Given the description of an element on the screen output the (x, y) to click on. 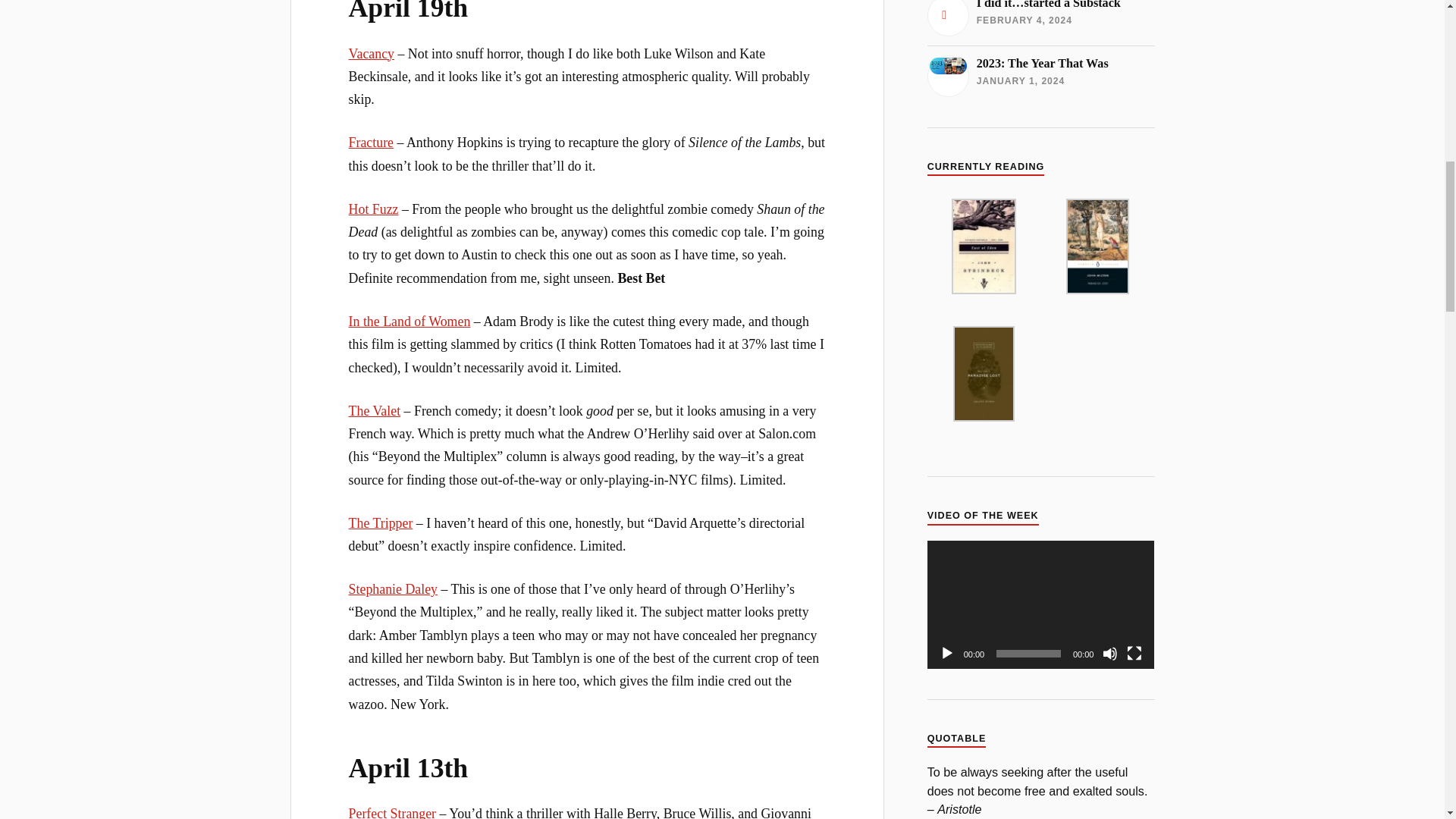
Vacancy (371, 53)
Fracture (371, 142)
The Valet (375, 410)
Mute (1110, 653)
Play (947, 653)
In the Land of Women (409, 321)
Hot Fuzz (373, 209)
The Tripper (381, 522)
Perfect Stranger (392, 812)
Fullscreen (1133, 653)
Stephanie Daley (393, 589)
